Given the description of an element on the screen output the (x, y) to click on. 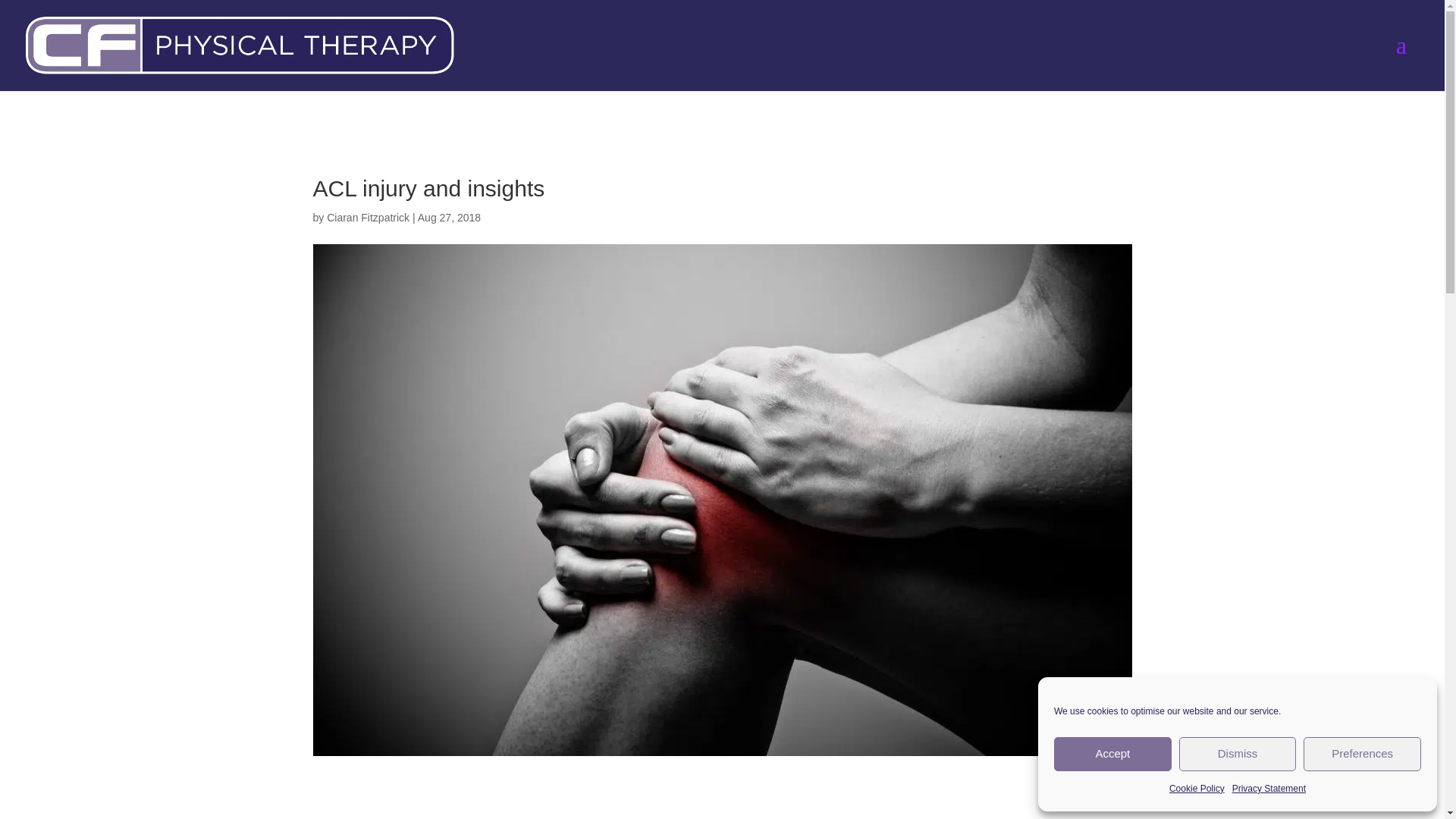
Ciaran Fitzpatrick (367, 217)
Posts by Ciaran Fitzpatrick (367, 217)
Cookie Policy (1196, 788)
Preferences (1362, 754)
Dismiss (1238, 754)
Privacy Statement (1268, 788)
Accept (1113, 754)
